Given the description of an element on the screen output the (x, y) to click on. 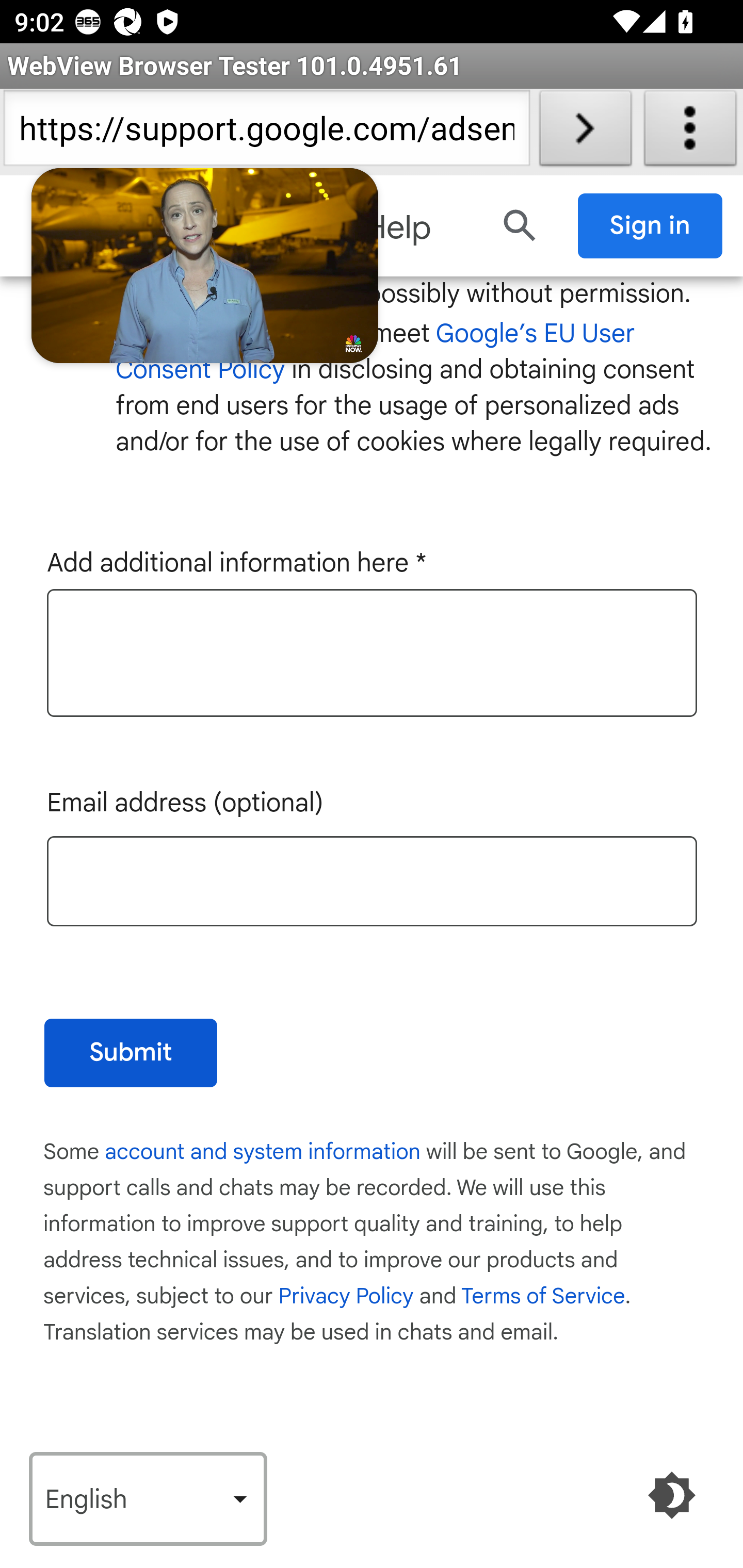
Load URL (585, 132)
About WebView (690, 132)
Search Help Center (519, 225)
Sign in (650, 225)
Submit (130, 1052)
account and system information (263, 1151)
Privacy Policy (346, 1295)
Terms of Service (542, 1295)
Language (English‎) (147, 1498)
Enable Dark Mode (672, 1494)
